Given the description of an element on the screen output the (x, y) to click on. 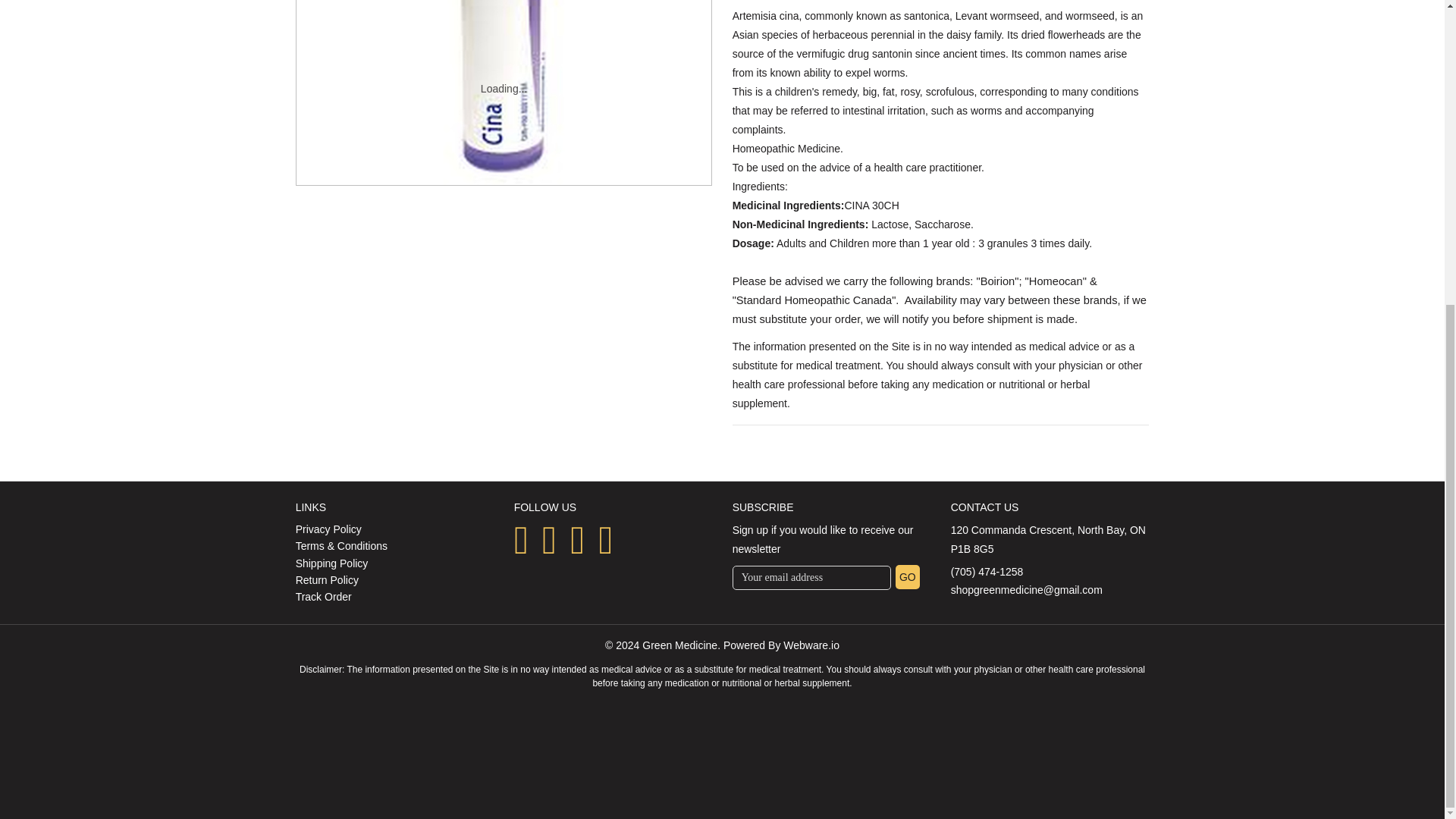
GO (907, 576)
Your email address (811, 577)
